Given the description of an element on the screen output the (x, y) to click on. 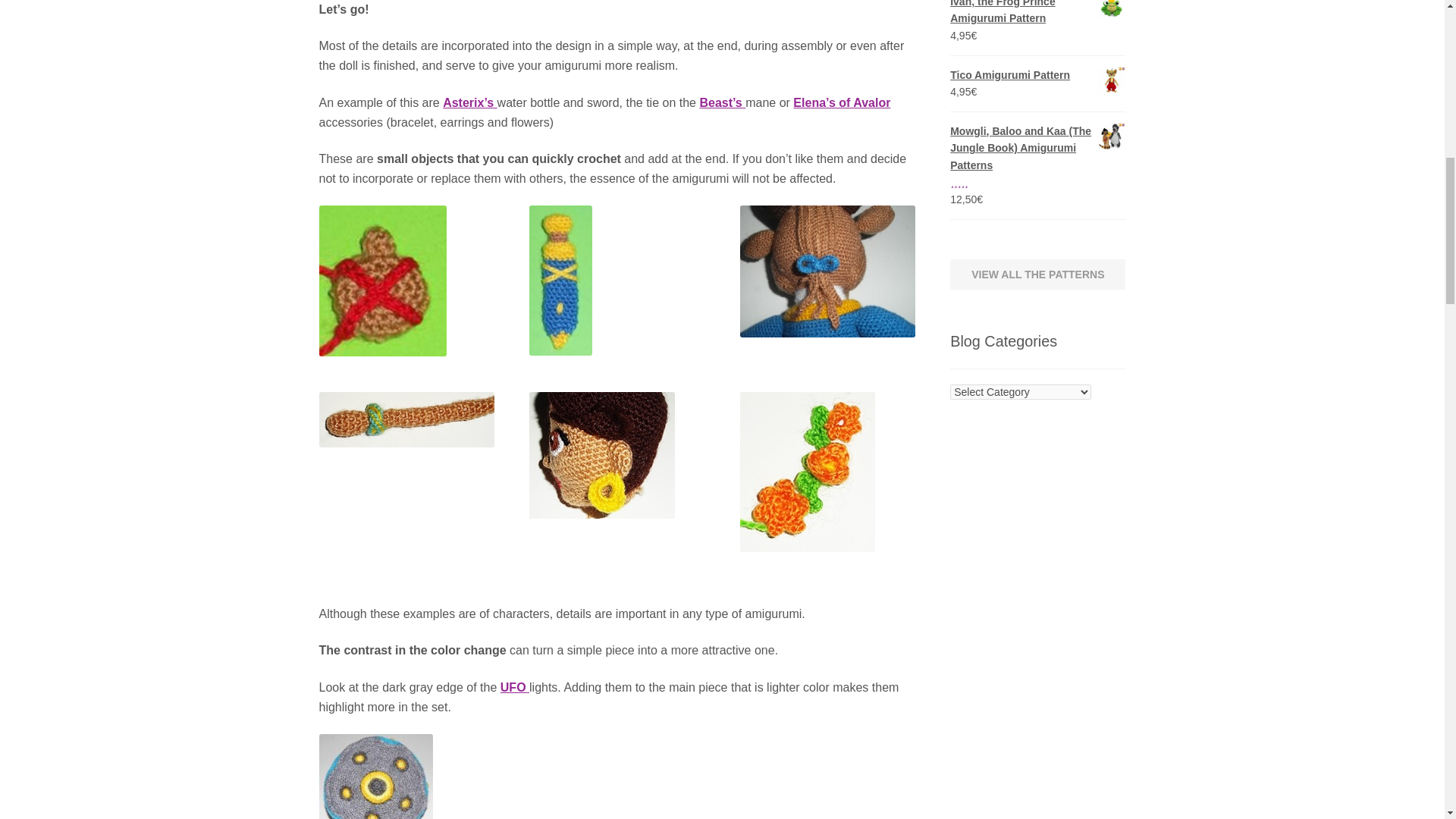
UFO (514, 686)
